Given the description of an element on the screen output the (x, y) to click on. 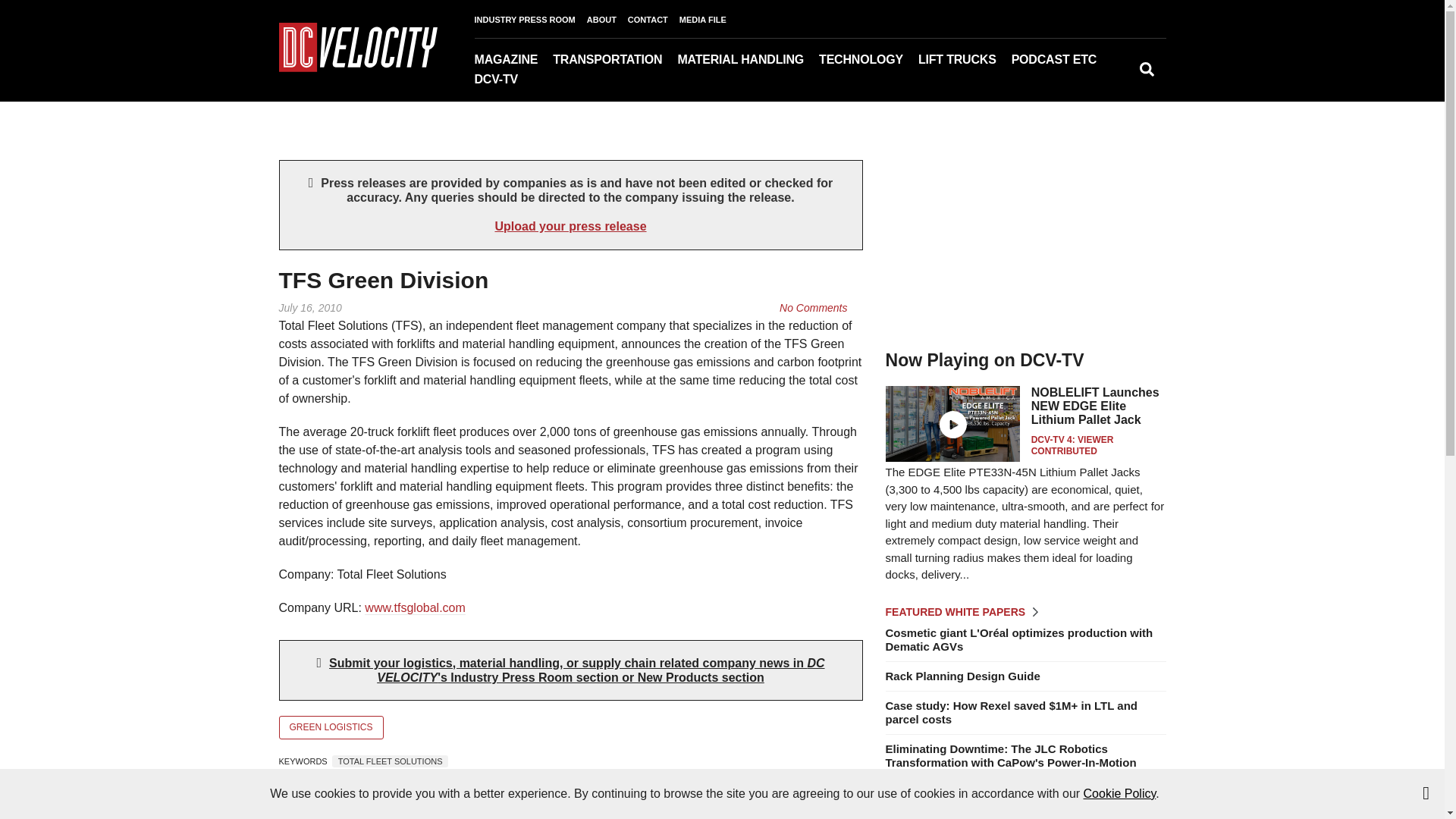
Subscribe (567, 81)
Podcast (1087, 81)
Webcasts (1093, 81)
Mobile Apps (574, 81)
Industry Press Room (1112, 81)
Events (1103, 81)
TRANSPORTATION (615, 59)
Digital Edition (562, 81)
New Products (1115, 81)
TECHNOLOGY (868, 59)
